Given the description of an element on the screen output the (x, y) to click on. 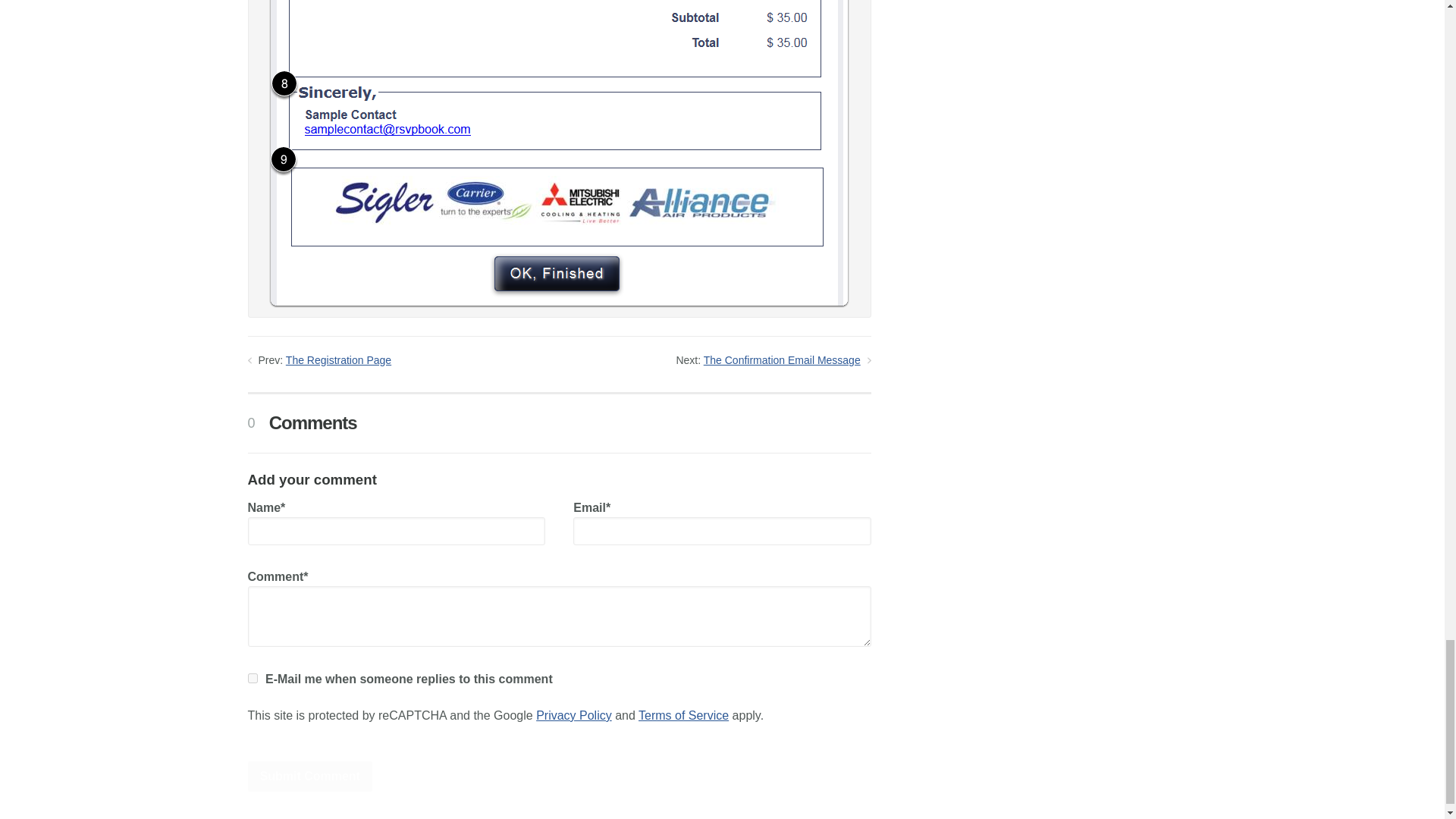
Terms of Service (684, 715)
1 (252, 678)
The Confirmation Email Message (781, 359)
Submit Comment (309, 776)
Privacy Policy (573, 715)
Submit Comment (309, 776)
The Registration Page (338, 359)
